Given the description of an element on the screen output the (x, y) to click on. 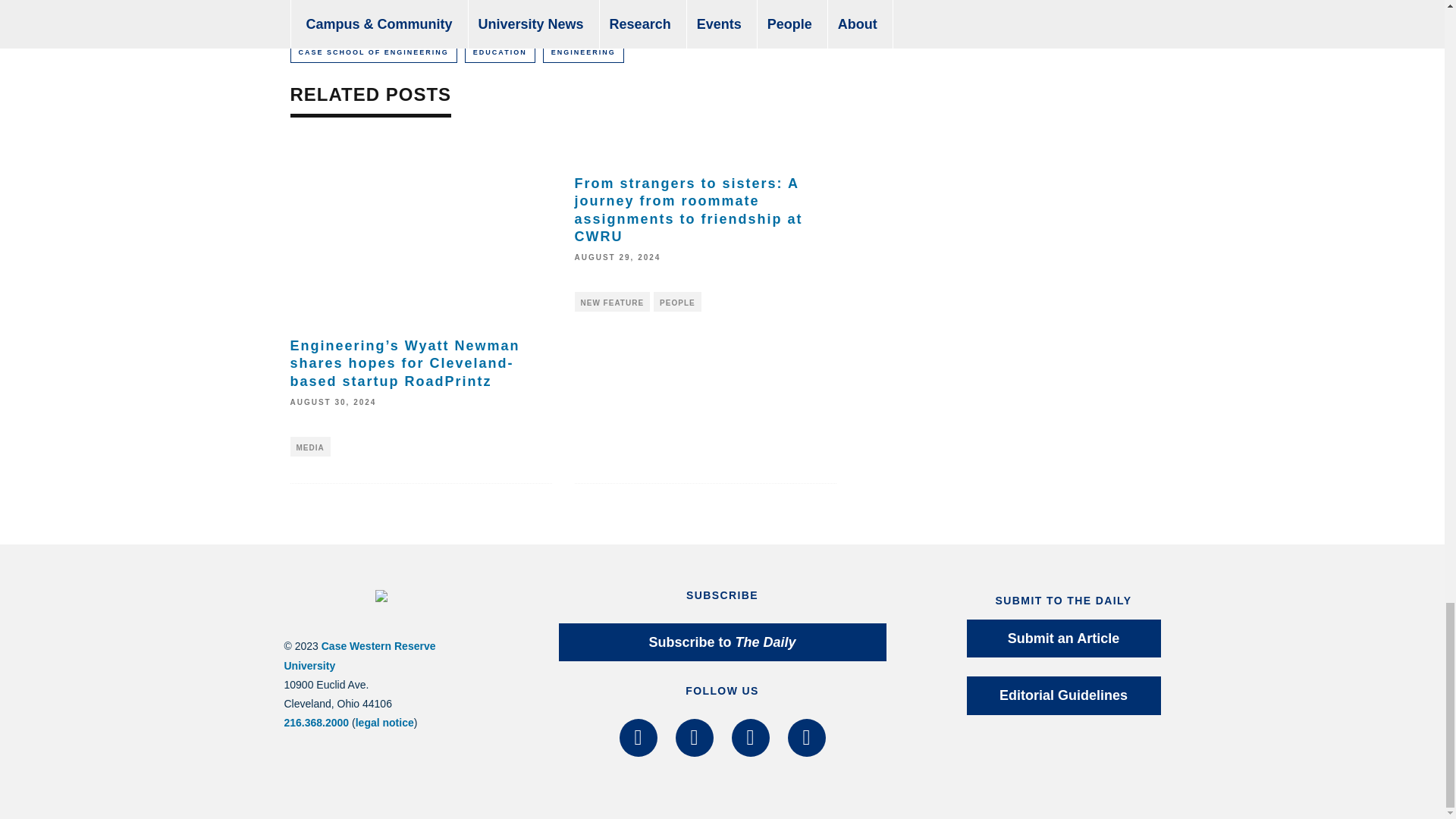
EDUCATION (499, 52)
PEOPLE (677, 301)
CASE SCHOOL OF ENGINEERING (373, 52)
NEW FEATURE (612, 301)
ENGINEERING (583, 52)
MEDIA (309, 446)
